Given the description of an element on the screen output the (x, y) to click on. 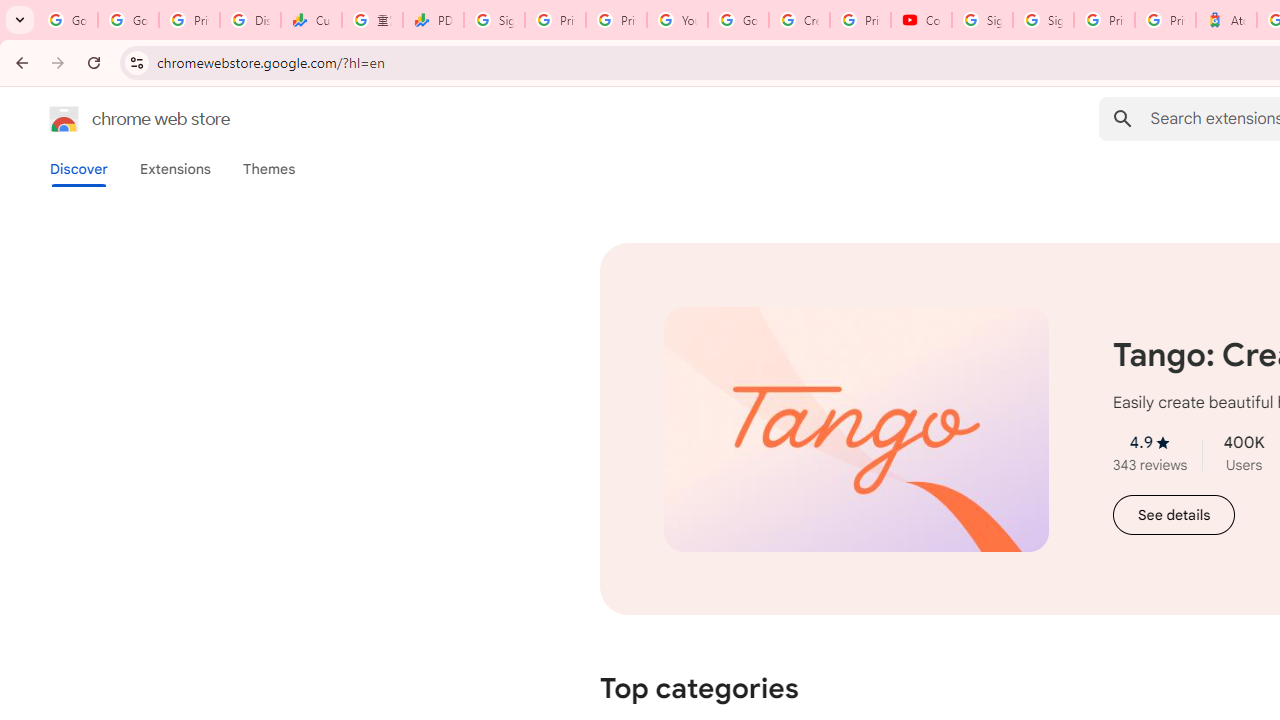
Sign in - Google Accounts (1042, 20)
Content Creator Programs & Opportunities - YouTube Creators (921, 20)
Discover (79, 169)
Create your Google Account (799, 20)
Sign in - Google Accounts (493, 20)
Extensions (174, 169)
Google Workspace Admin Community (67, 20)
